Given the description of an element on the screen output the (x, y) to click on. 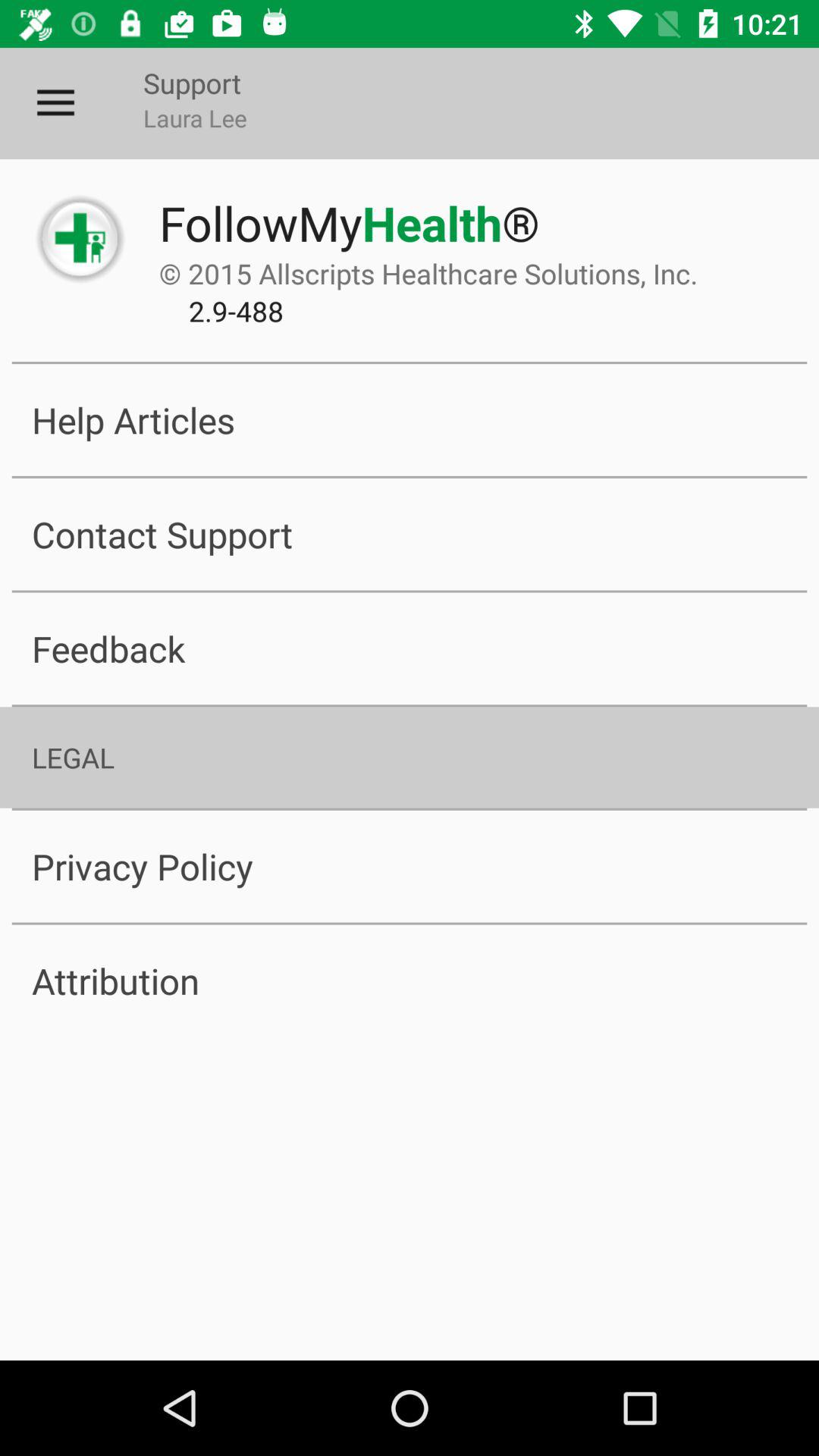
choose the item next to the support item (55, 103)
